Given the description of an element on the screen output the (x, y) to click on. 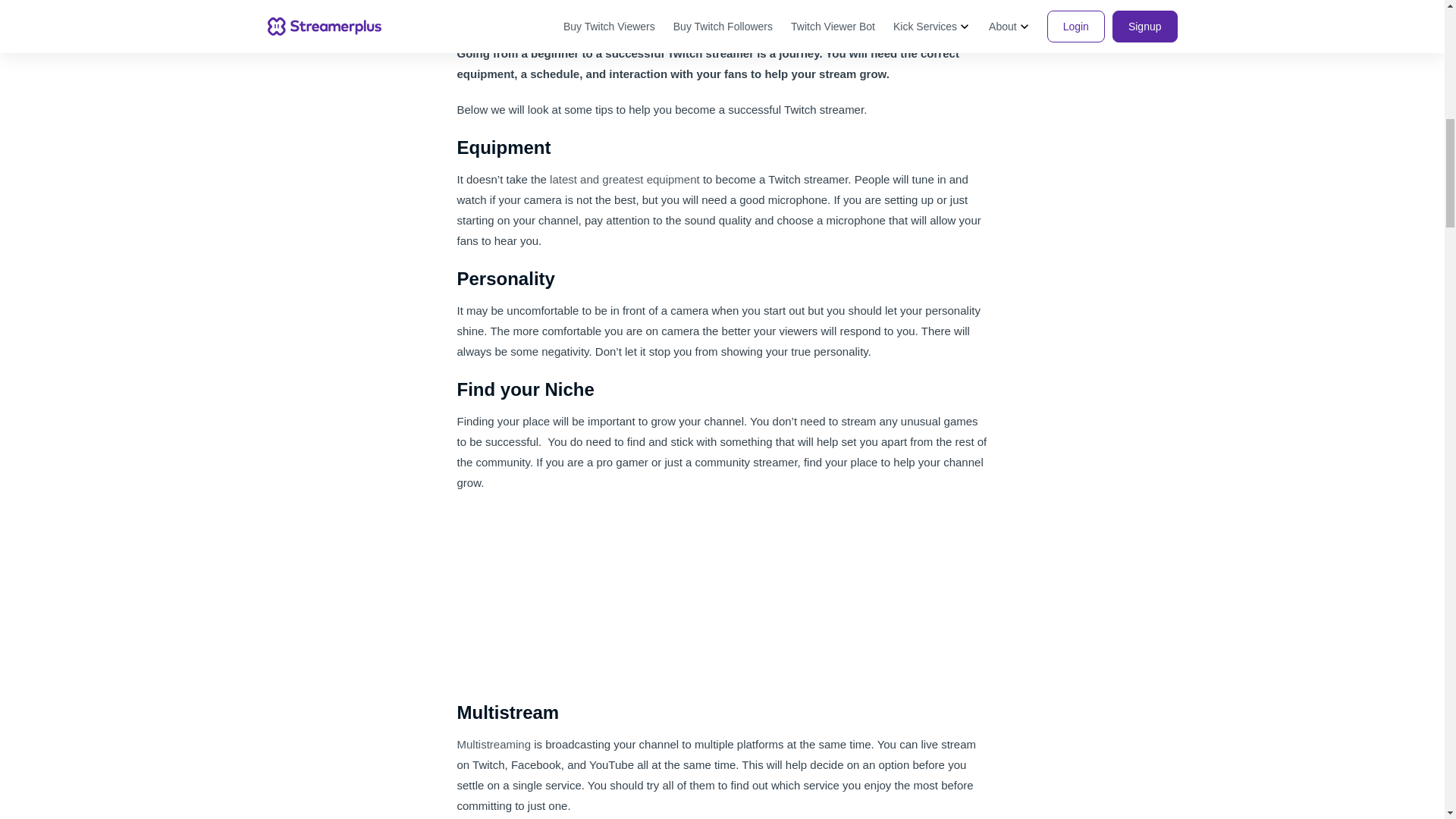
Multistreaming (494, 744)
latest and greatest equipment (626, 178)
